Given the description of an element on the screen output the (x, y) to click on. 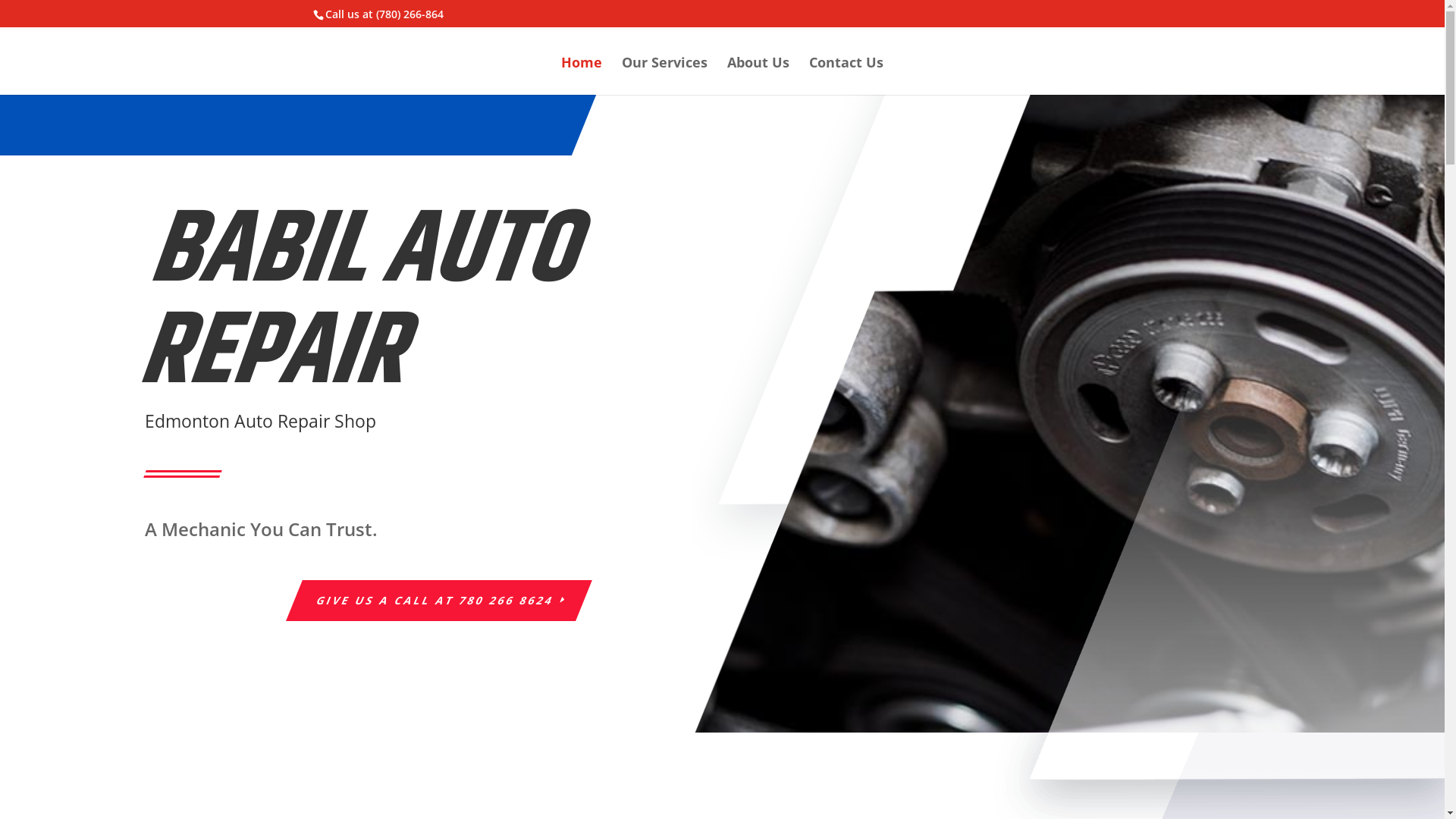
About Us Element type: text (758, 75)
(780) 266-864 Element type: text (409, 13)
Our Services Element type: text (664, 75)
Contact Us Element type: text (846, 75)
Home Element type: text (581, 75)
GIVE US A CALL AT 780 266 8624 Element type: text (430, 600)
